Given the description of an element on the screen output the (x, y) to click on. 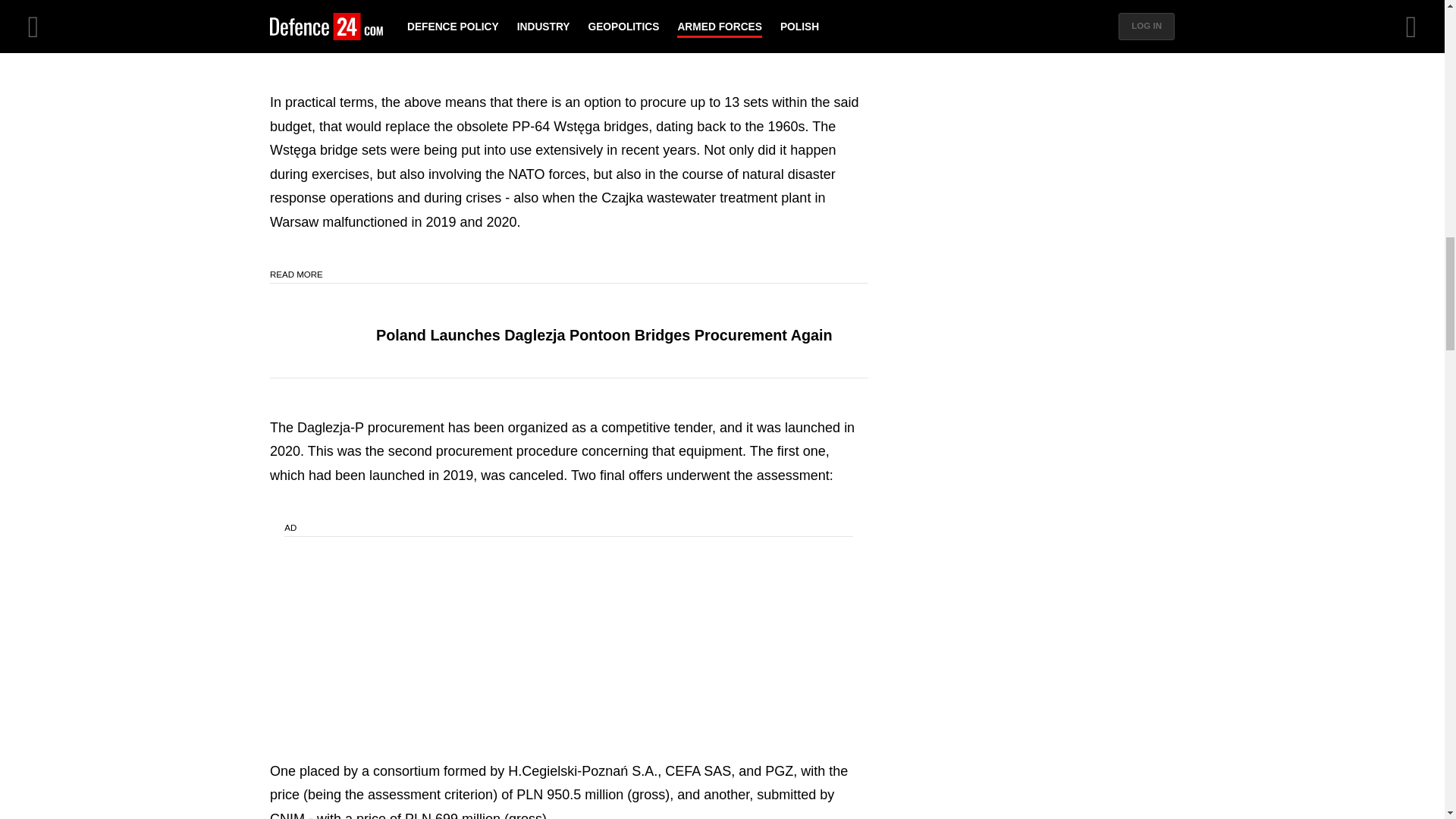
Poland Launches Daglezja Pontoon Bridges Procurement Again (603, 334)
